Given the description of an element on the screen output the (x, y) to click on. 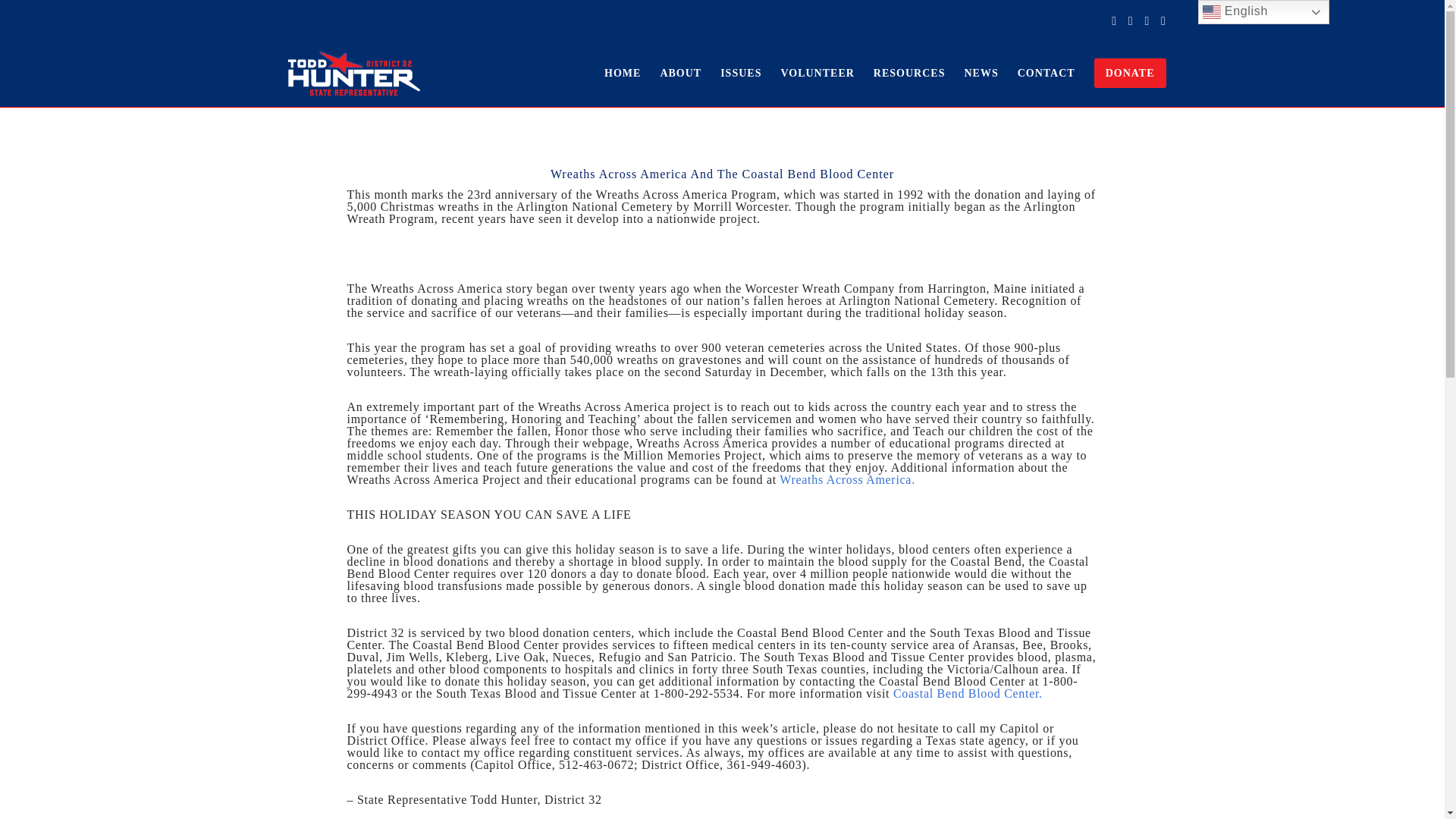
VOLUNTEER (807, 73)
DONATE (1120, 73)
Wreaths Across America. (846, 479)
CONTACT (1036, 73)
Coastal Bend Blood Center. (967, 693)
ABOUT (670, 73)
RESOURCES (899, 73)
